Given the description of an element on the screen output the (x, y) to click on. 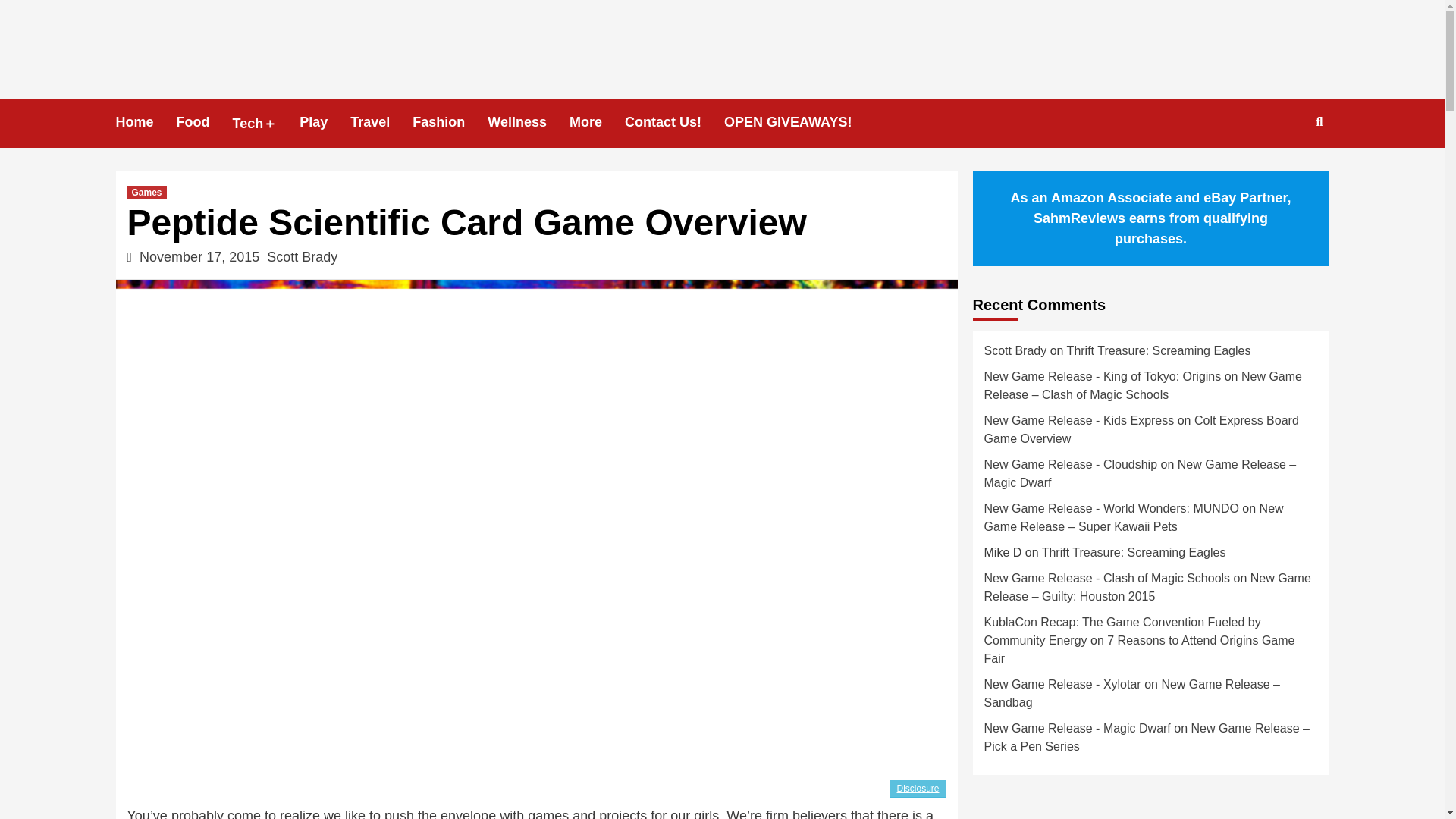
Travel (381, 122)
More (596, 122)
Fashion (449, 122)
Food (204, 122)
Home (145, 122)
Play (324, 122)
Wellness (528, 122)
